Given the description of an element on the screen output the (x, y) to click on. 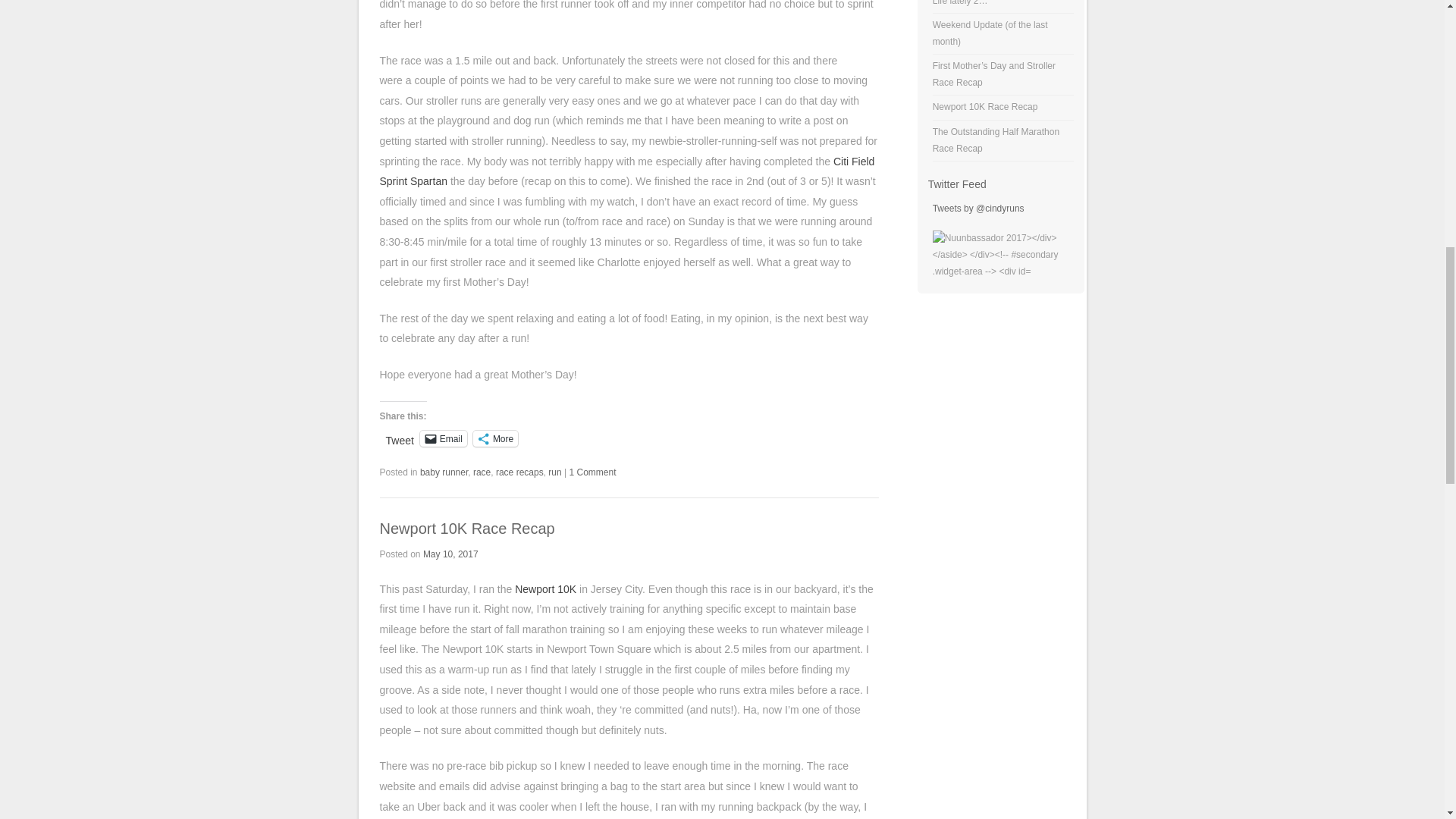
Newport 10K (545, 589)
race (481, 471)
More (495, 438)
1 Comment (592, 471)
Permalink to Newport 10K Race Recap (466, 528)
baby runner (443, 471)
run (554, 471)
race recaps (519, 471)
May 10, 2017 (451, 553)
2:47 pm (451, 553)
